Given the description of an element on the screen output the (x, y) to click on. 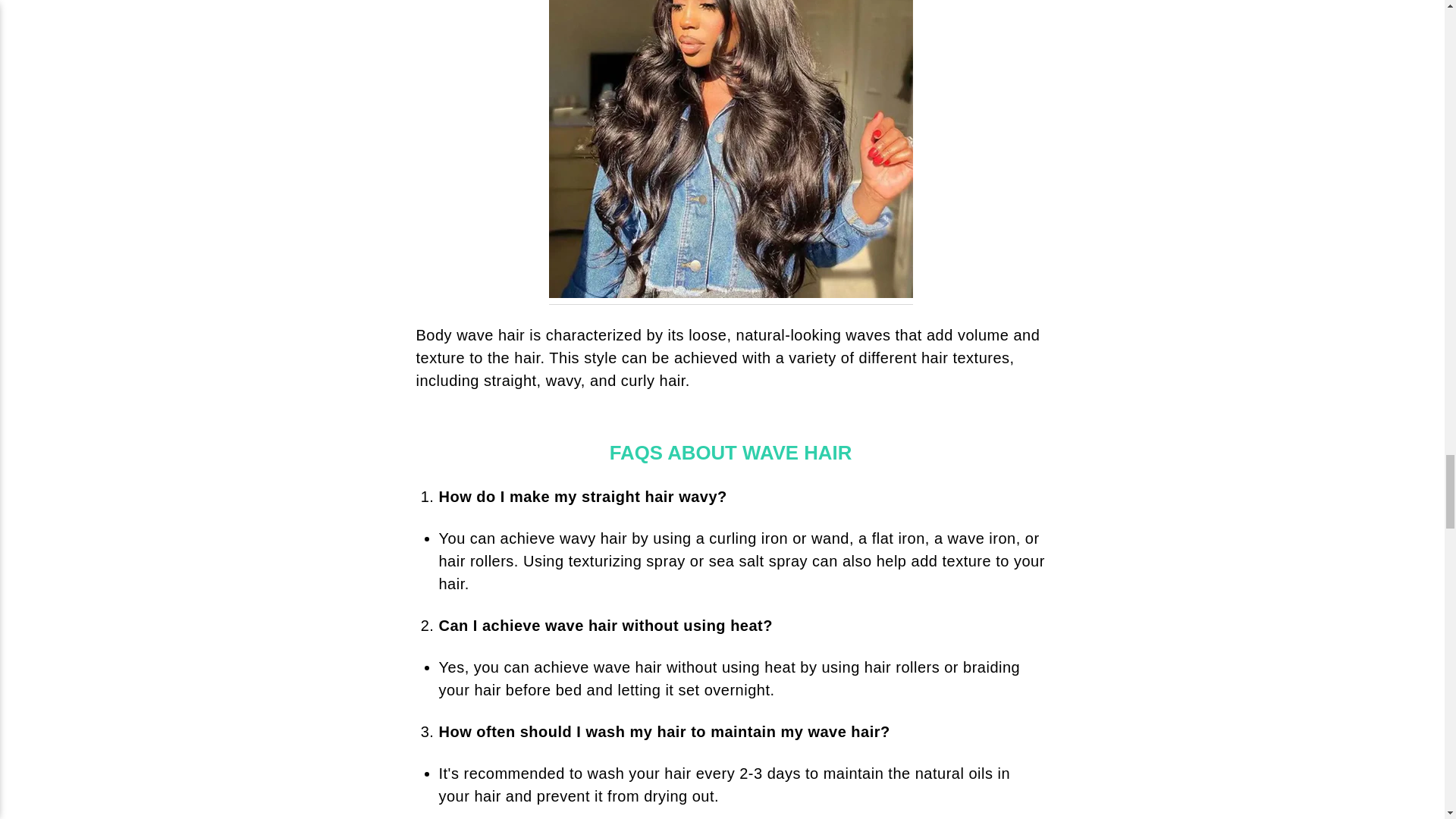
Body Wave Wig (730, 152)
